Given the description of an element on the screen output the (x, y) to click on. 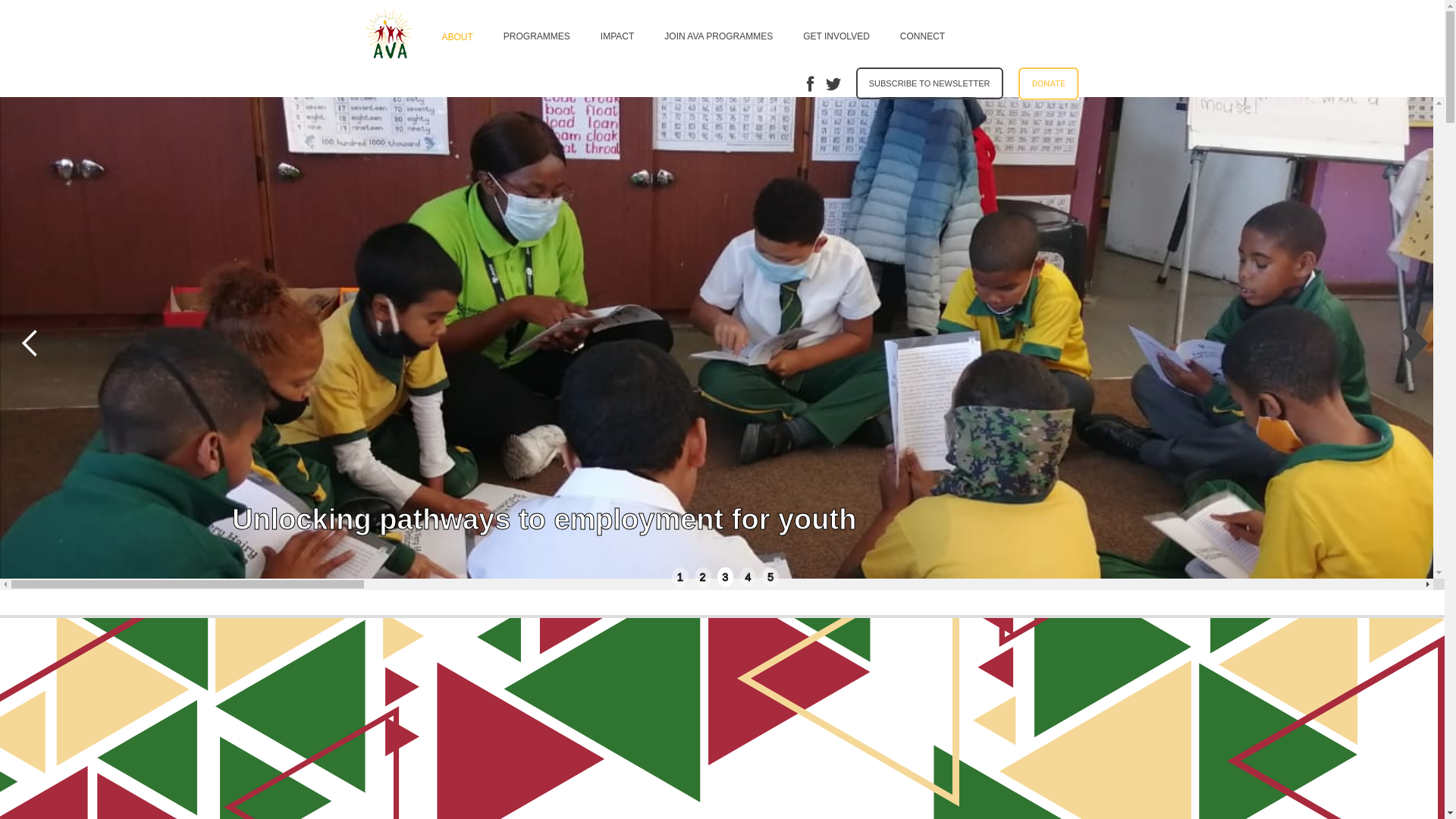
IMPACT (617, 33)
SUBSCRIBE TO NEWSLETTER (929, 83)
Buy Now with PayFast (1047, 83)
GET INVOLVED (836, 33)
JOIN AVA PROGRAMMES (718, 33)
CONNECT (922, 33)
ABOUT (456, 34)
PROGRAMMES (536, 33)
